Given the description of an element on the screen output the (x, y) to click on. 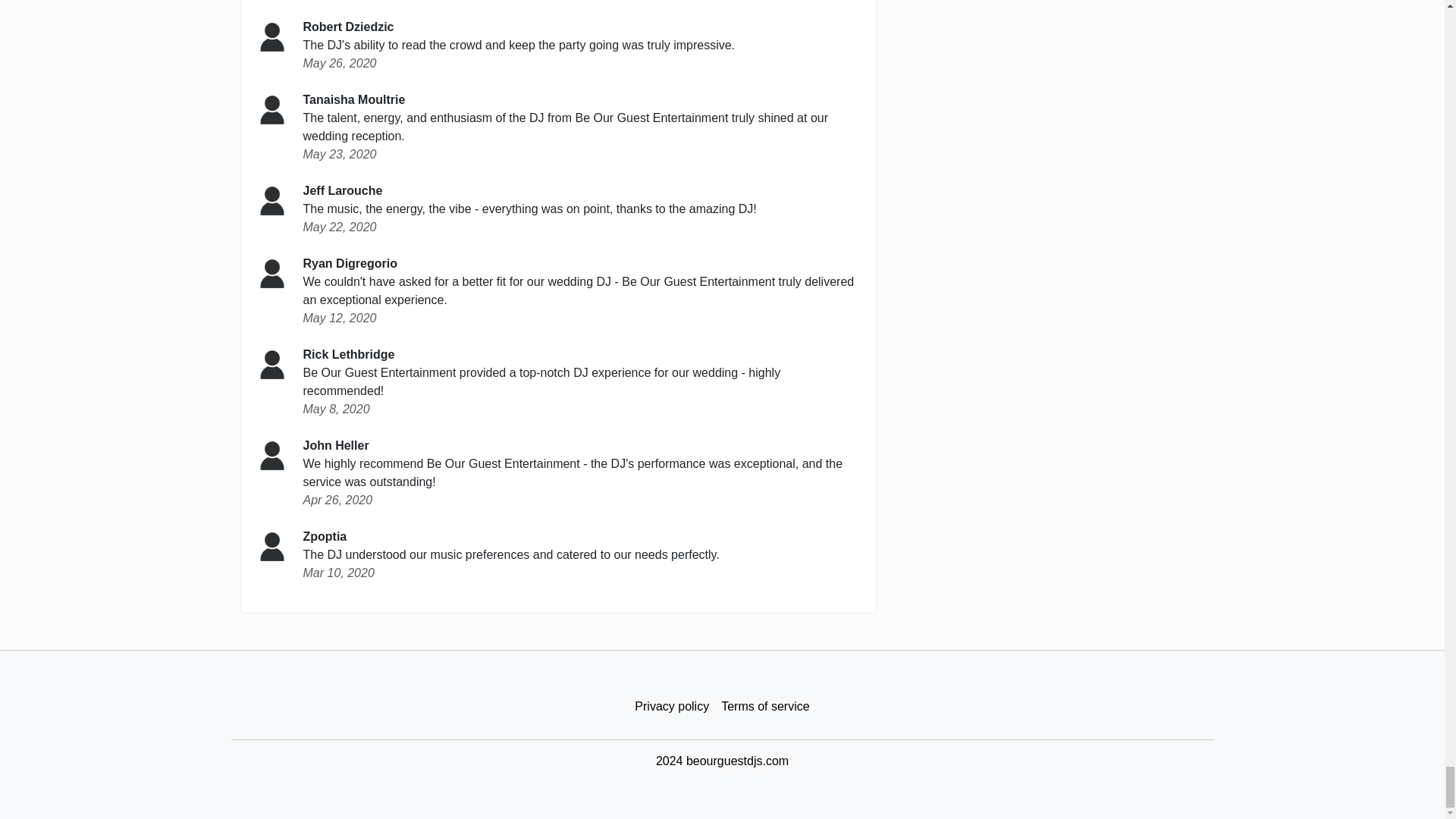
Privacy policy (671, 707)
Terms of service (764, 707)
